Given the description of an element on the screen output the (x, y) to click on. 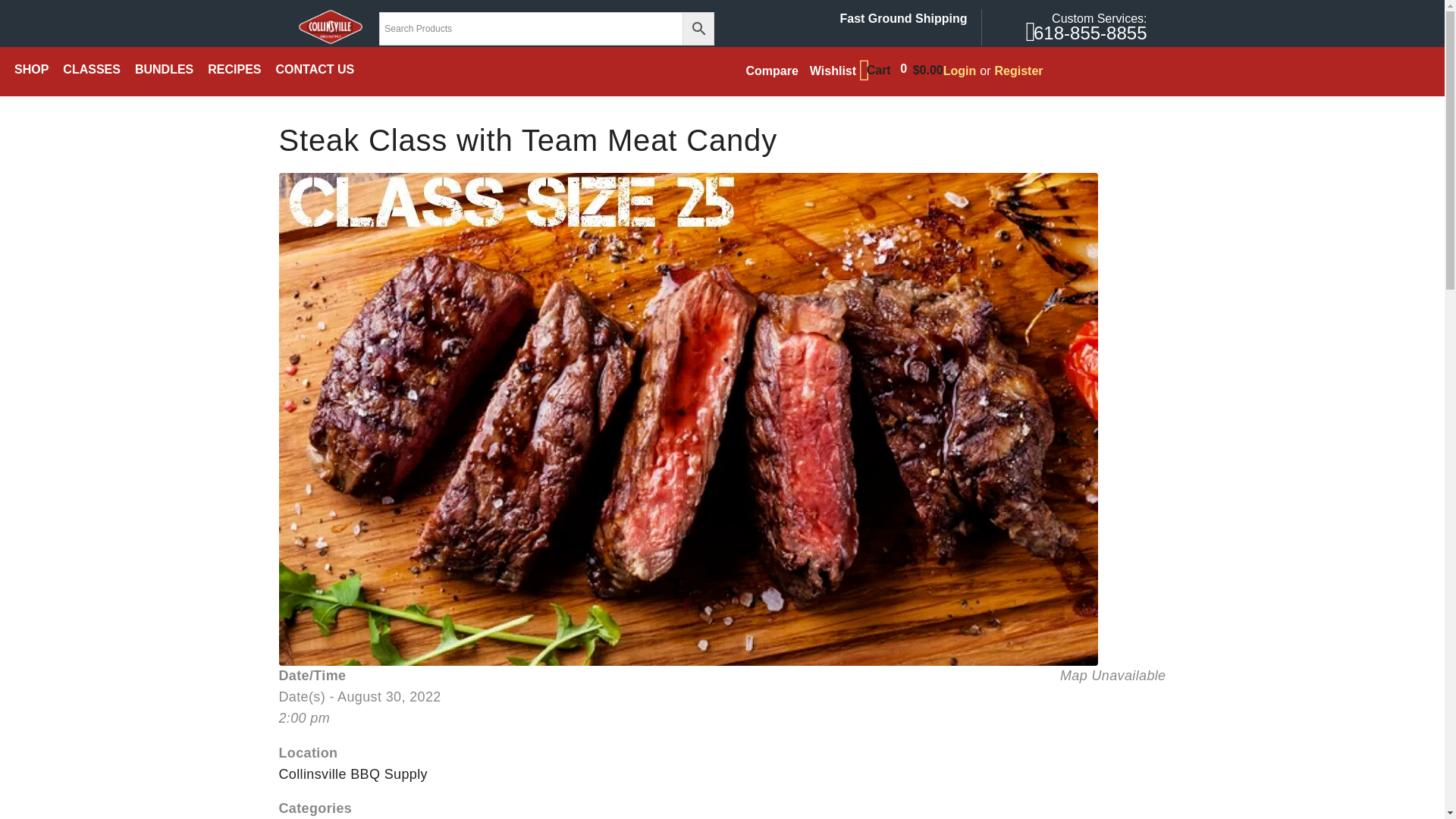
CLASSES (91, 69)
View your shopping cart (901, 69)
618-855-8855 (1090, 32)
BUNDLES (164, 69)
SHOP (31, 69)
